Given the description of an element on the screen output the (x, y) to click on. 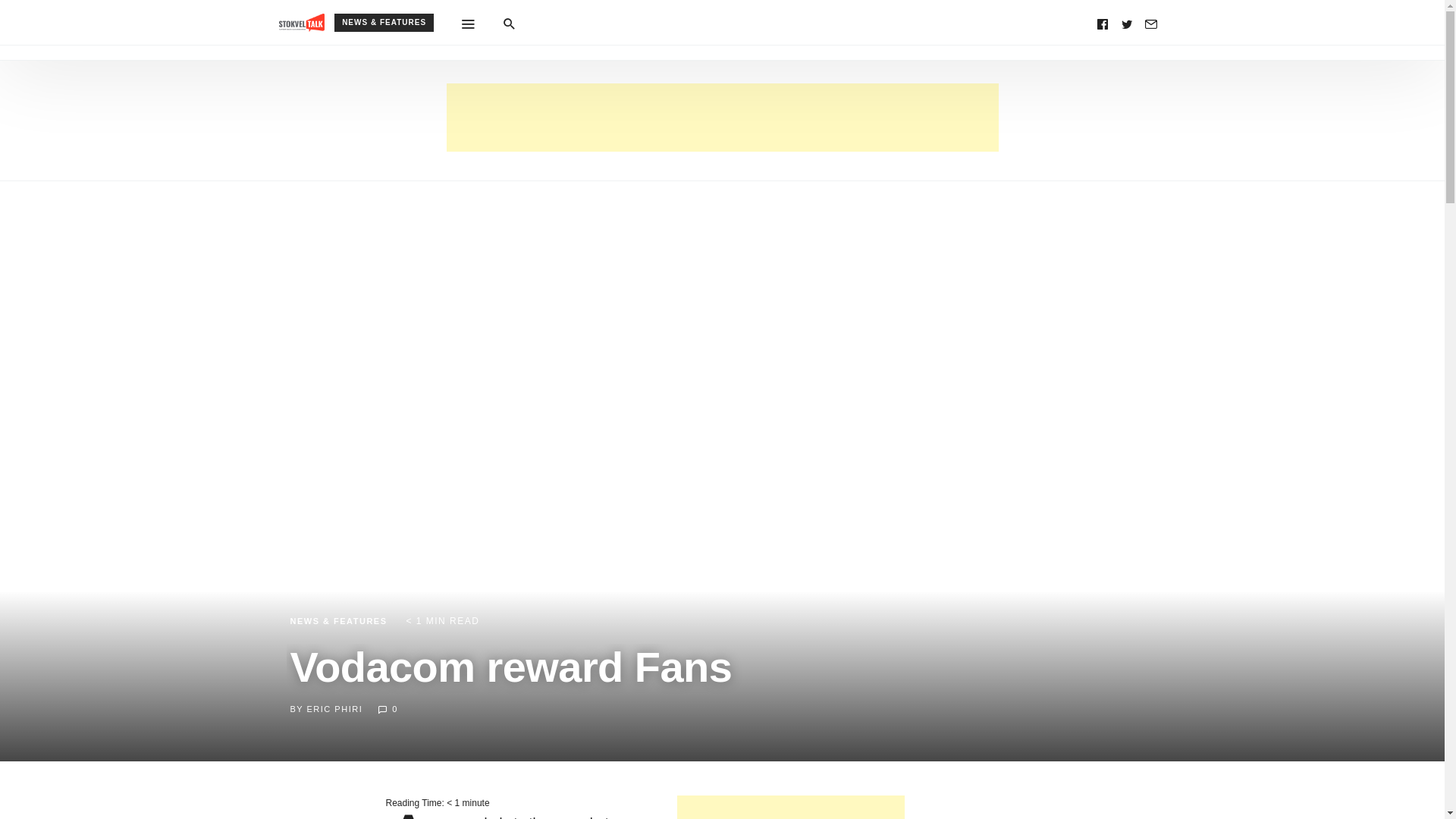
ERIC PHIRI (334, 708)
0 (387, 708)
Email (1150, 22)
Twitter (1126, 22)
Facebook (1102, 22)
